Given the description of an element on the screen output the (x, y) to click on. 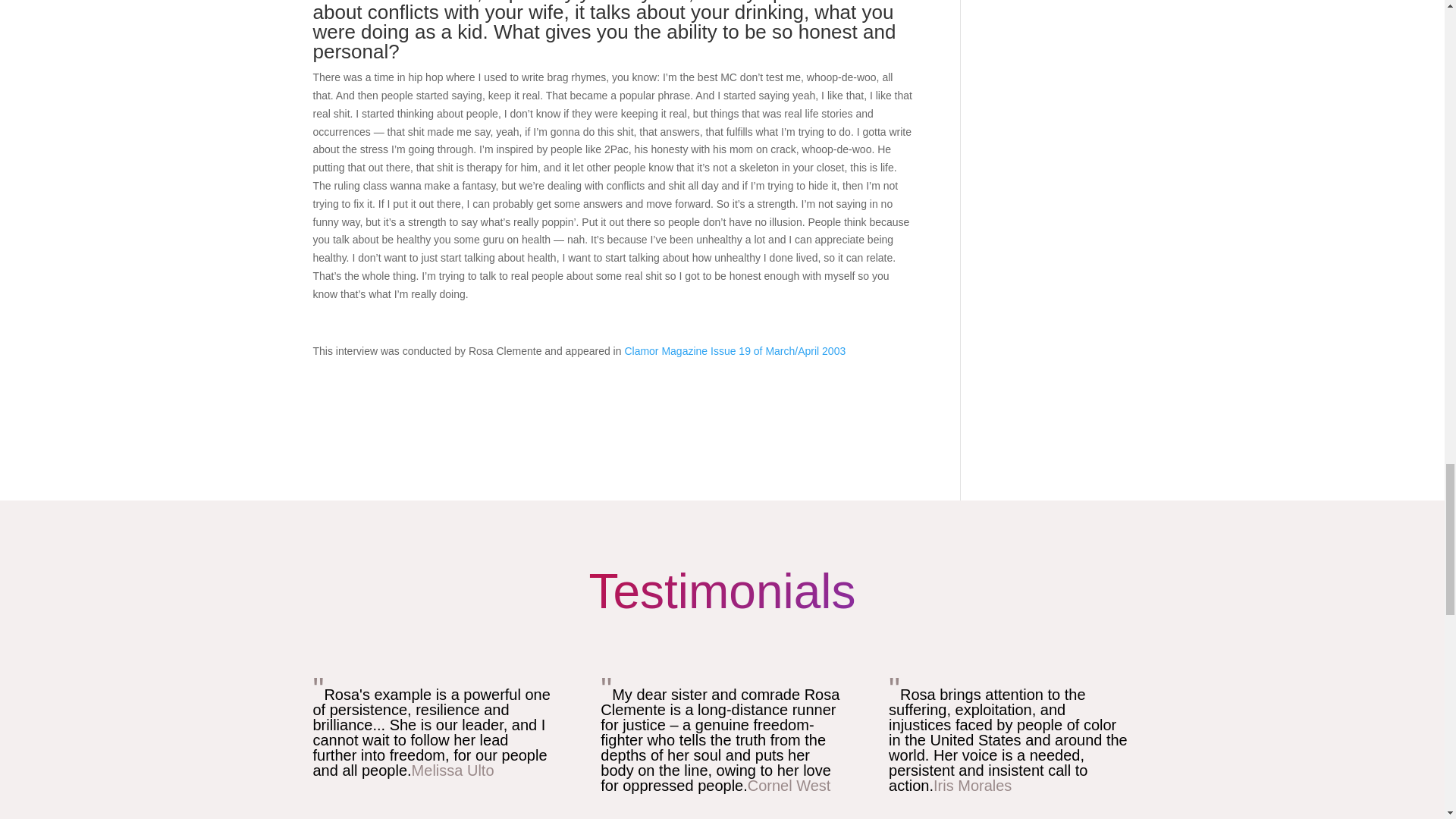
Clamor Magazine (733, 350)
